Given the description of an element on the screen output the (x, y) to click on. 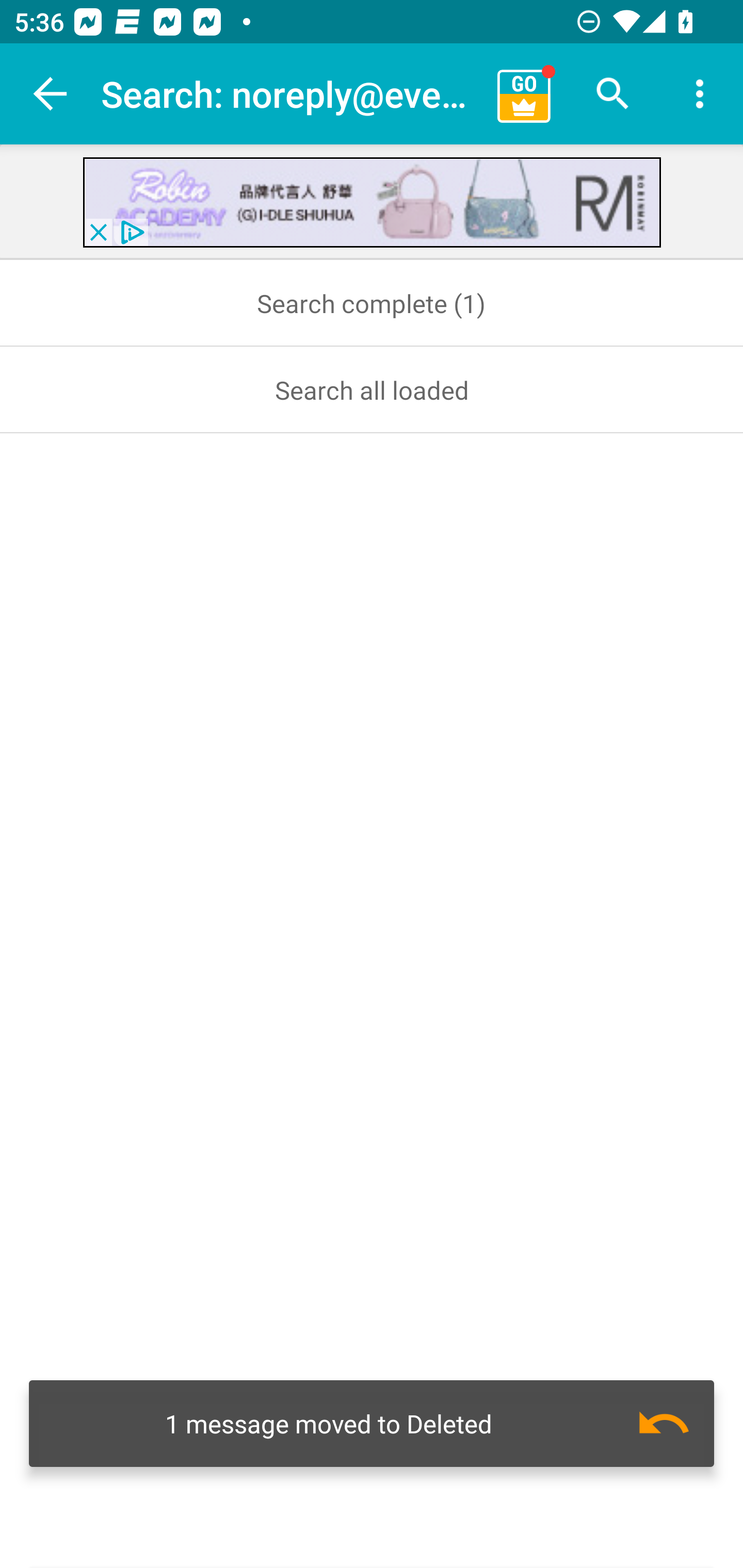
Navigate up (50, 93)
Search (612, 93)
More options (699, 93)
close_button (97, 231)
privacy_small (130, 231)
Search complete (1) (371, 303)
Search all loaded (371, 389)
Undo 1 message moved to Deleted (371, 1423)
